Given the description of an element on the screen output the (x, y) to click on. 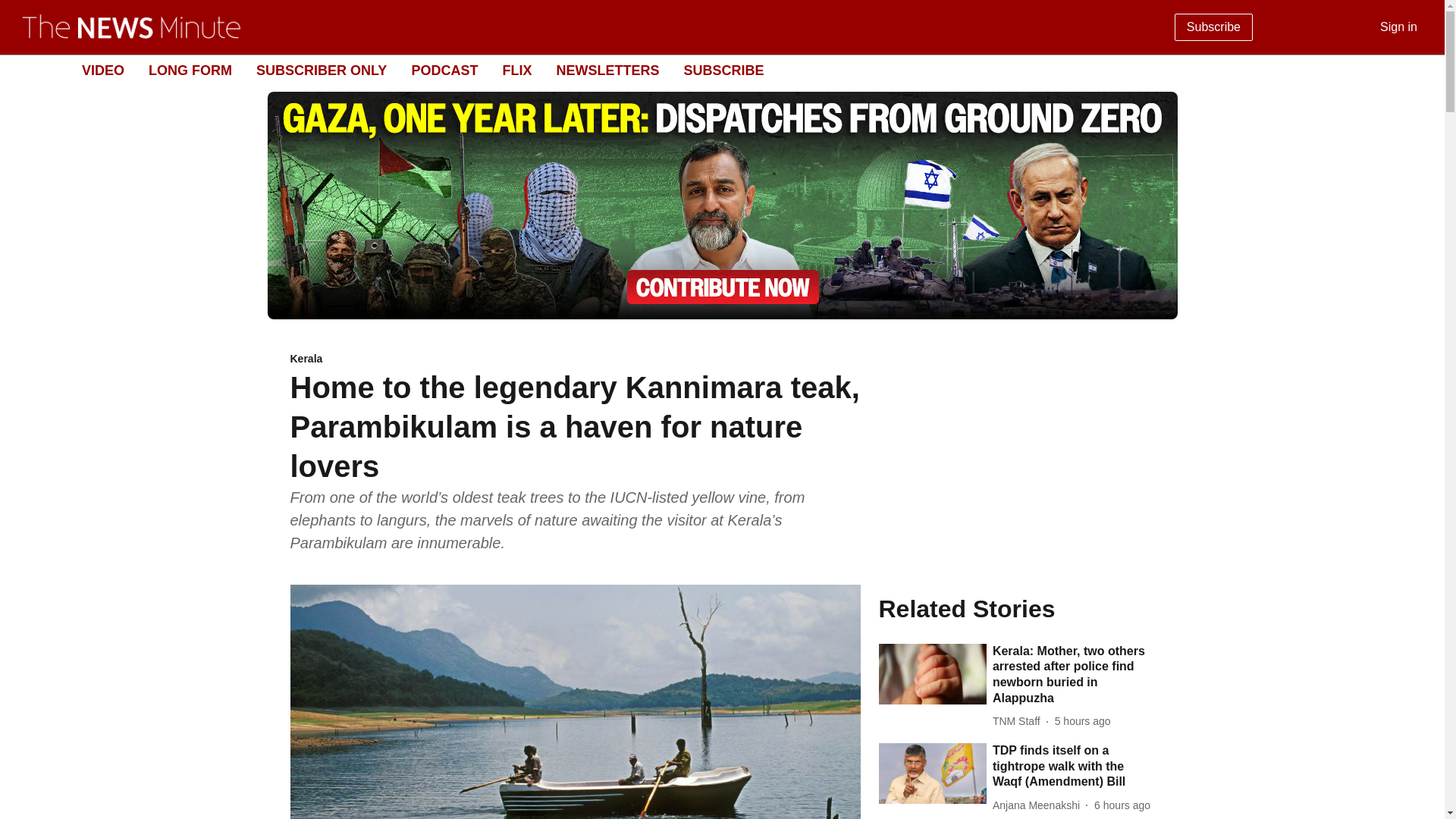
FLIX (516, 70)
2024-08-13 13:59 (1082, 721)
PODCAST (443, 70)
Kerala (574, 359)
Related Stories (1015, 607)
VIDEO (102, 70)
SUBSCRIBER ONLY (321, 70)
2024-08-13 12:45 (1122, 805)
